Given the description of an element on the screen output the (x, y) to click on. 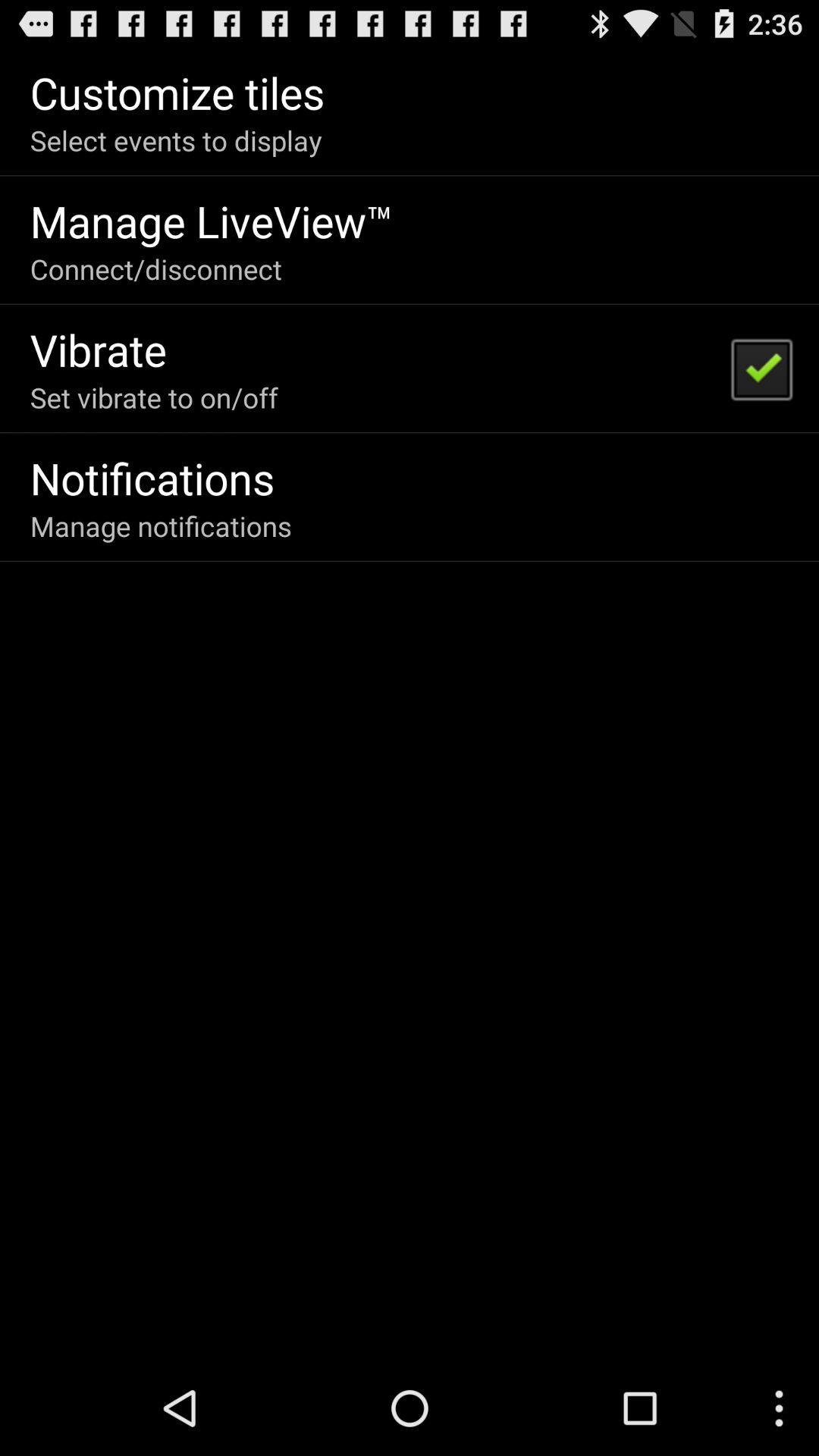
turn on the item above the select events to icon (177, 92)
